Given the description of an element on the screen output the (x, y) to click on. 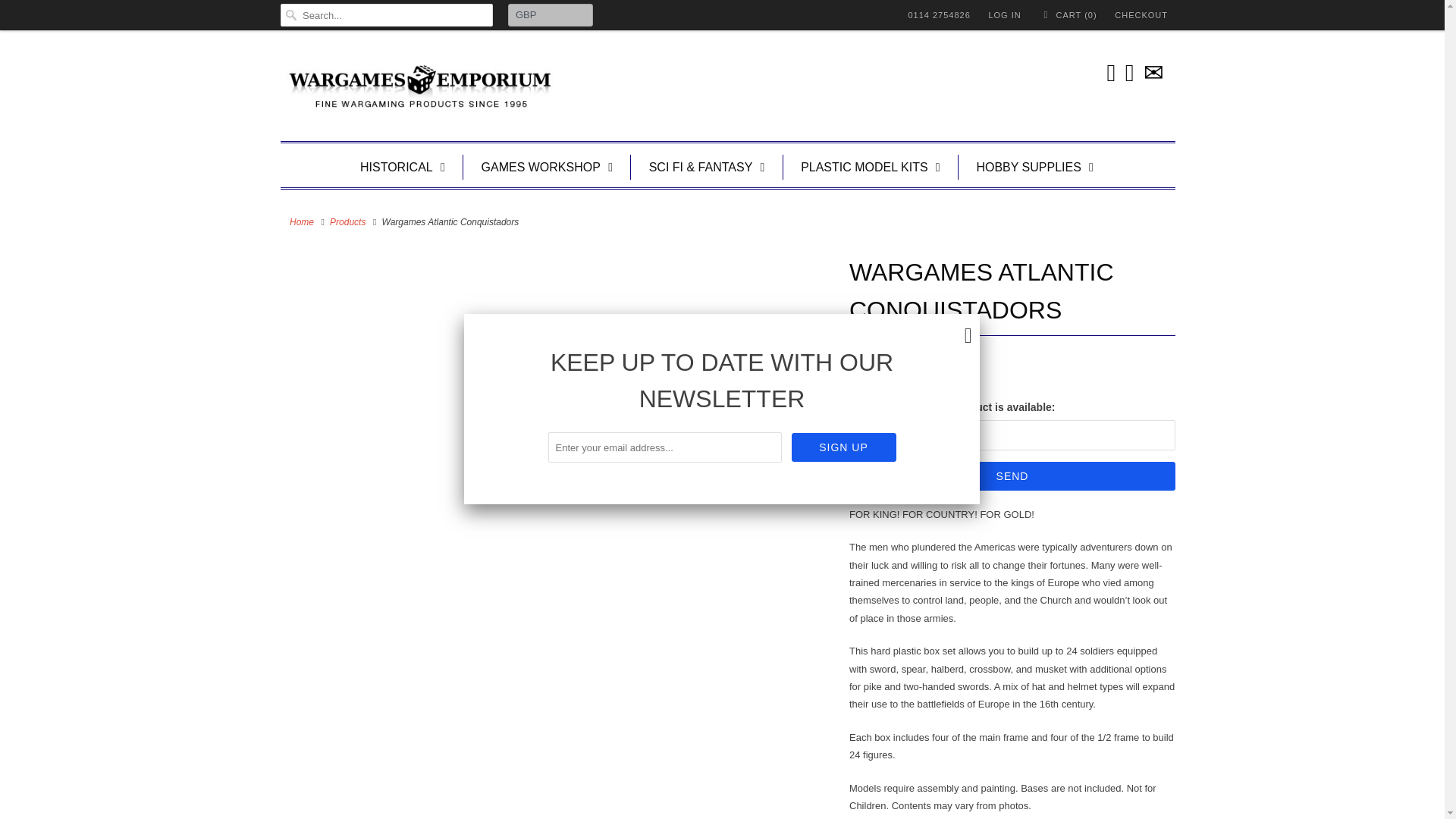
CHECKOUT (1141, 15)
LOG IN (1004, 15)
Send (1011, 475)
Wargames Emporium (417, 89)
0114 2754826 (938, 15)
Sign Up (844, 446)
Wargames Emporium (301, 222)
Products (347, 222)
Wargames Atlantic Conquistadors (557, 259)
